Given the description of an element on the screen output the (x, y) to click on. 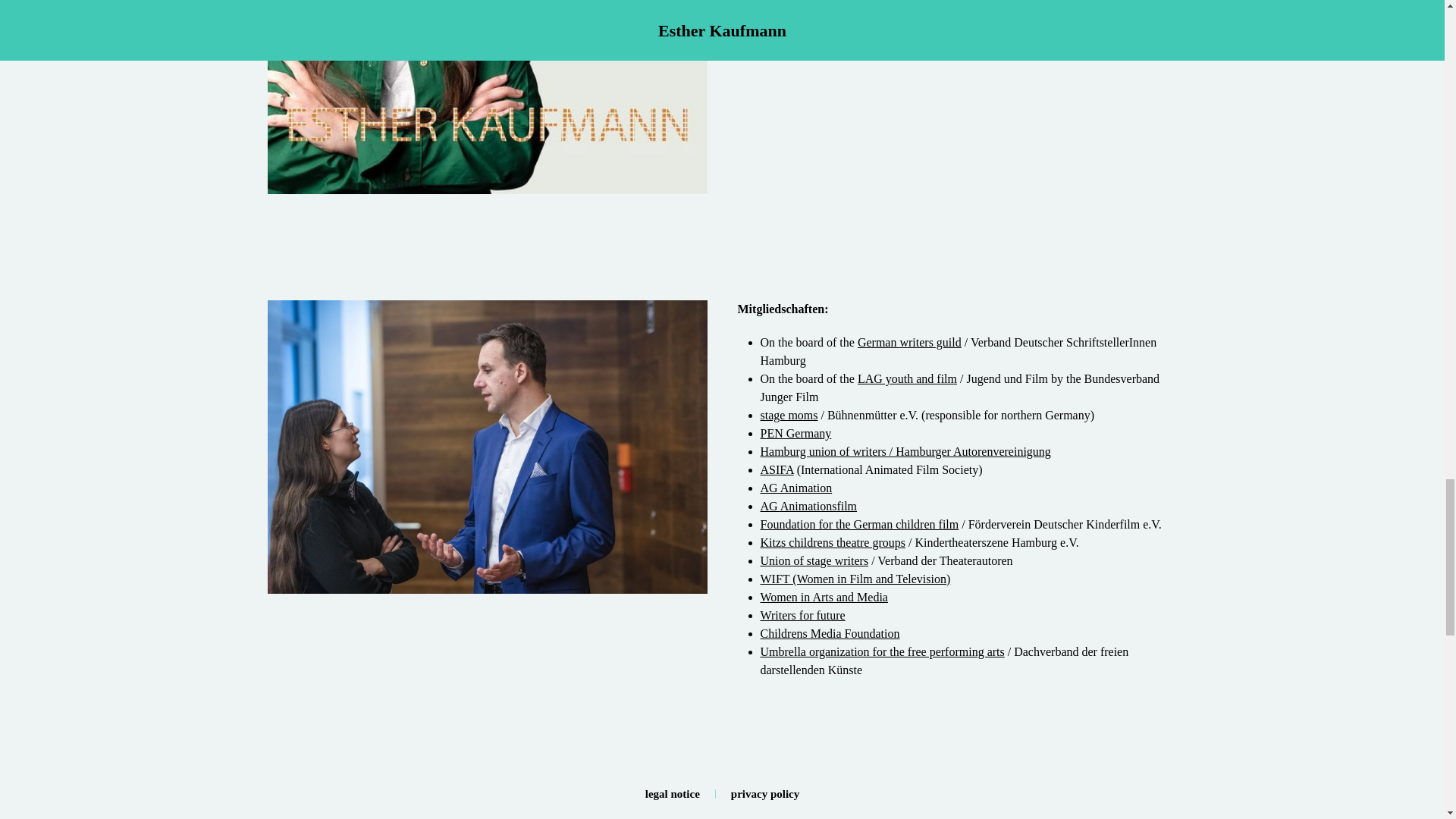
LAG youth and film (906, 378)
ASIFA (776, 469)
AG Animation (795, 487)
German writers guild (908, 341)
PEN Germany (795, 432)
stage moms (788, 414)
